Given the description of an element on the screen output the (x, y) to click on. 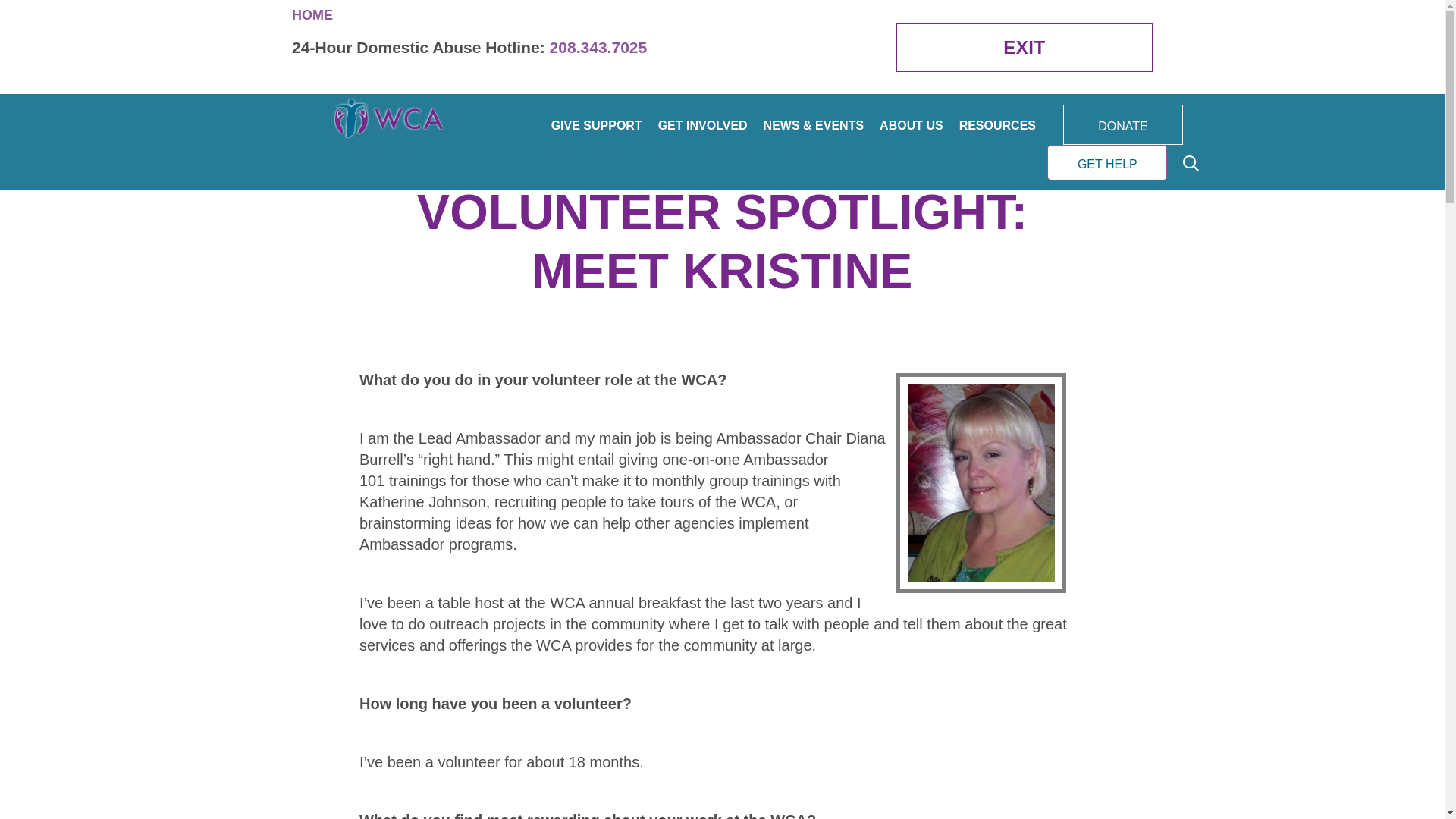
HOME (312, 15)
208.343.7025 (598, 47)
ABOUT US (911, 125)
GIVE SUPPORT (596, 125)
EXIT (1024, 47)
GET INVOLVED (703, 125)
